Given the description of an element on the screen output the (x, y) to click on. 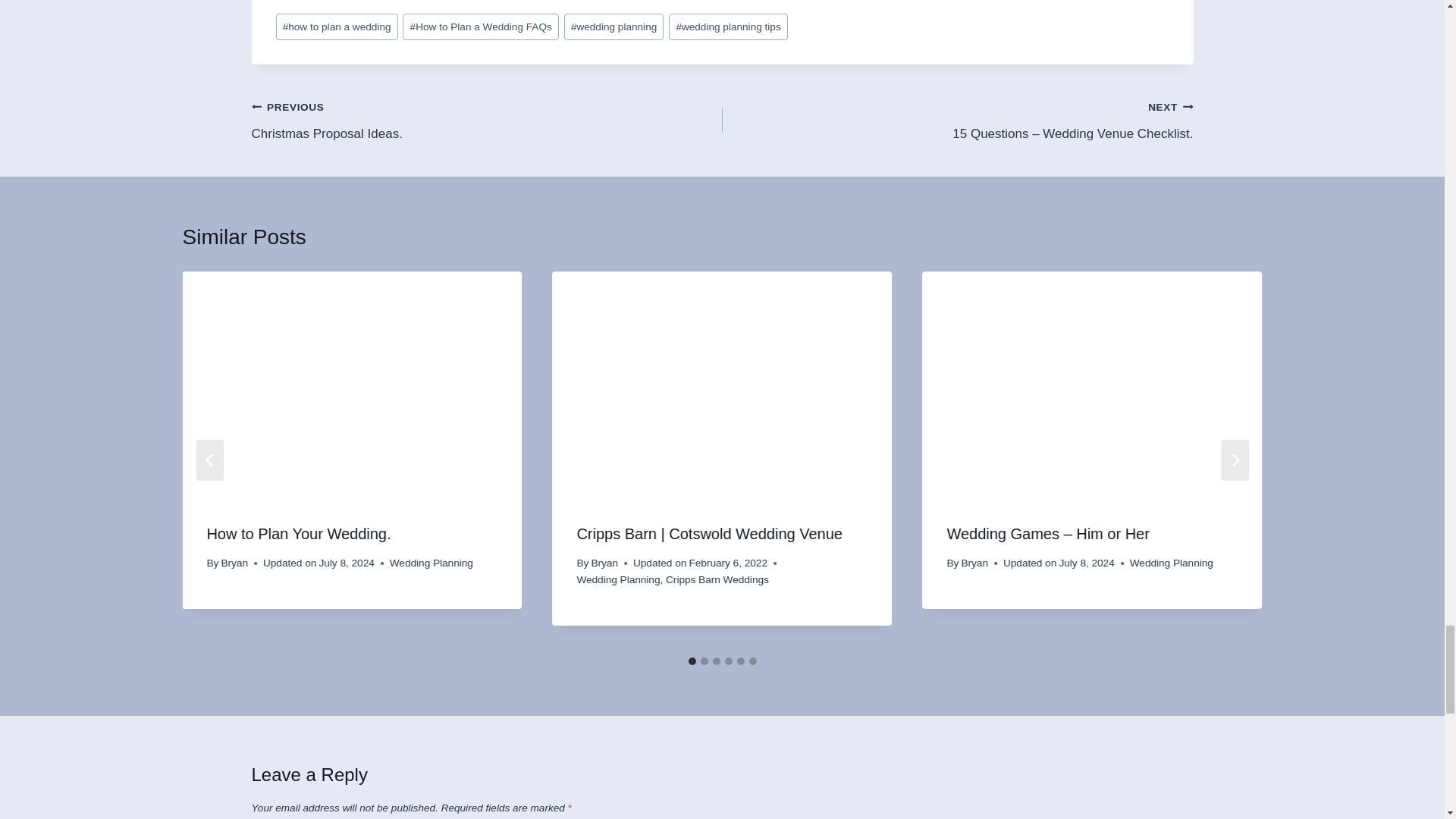
wedding planning (613, 26)
wedding planning tips (727, 26)
How to Plan a Wedding FAQs (480, 26)
See The Latest Weddings (486, 120)
how to plan a wedding (721, 6)
